Given the description of an element on the screen output the (x, y) to click on. 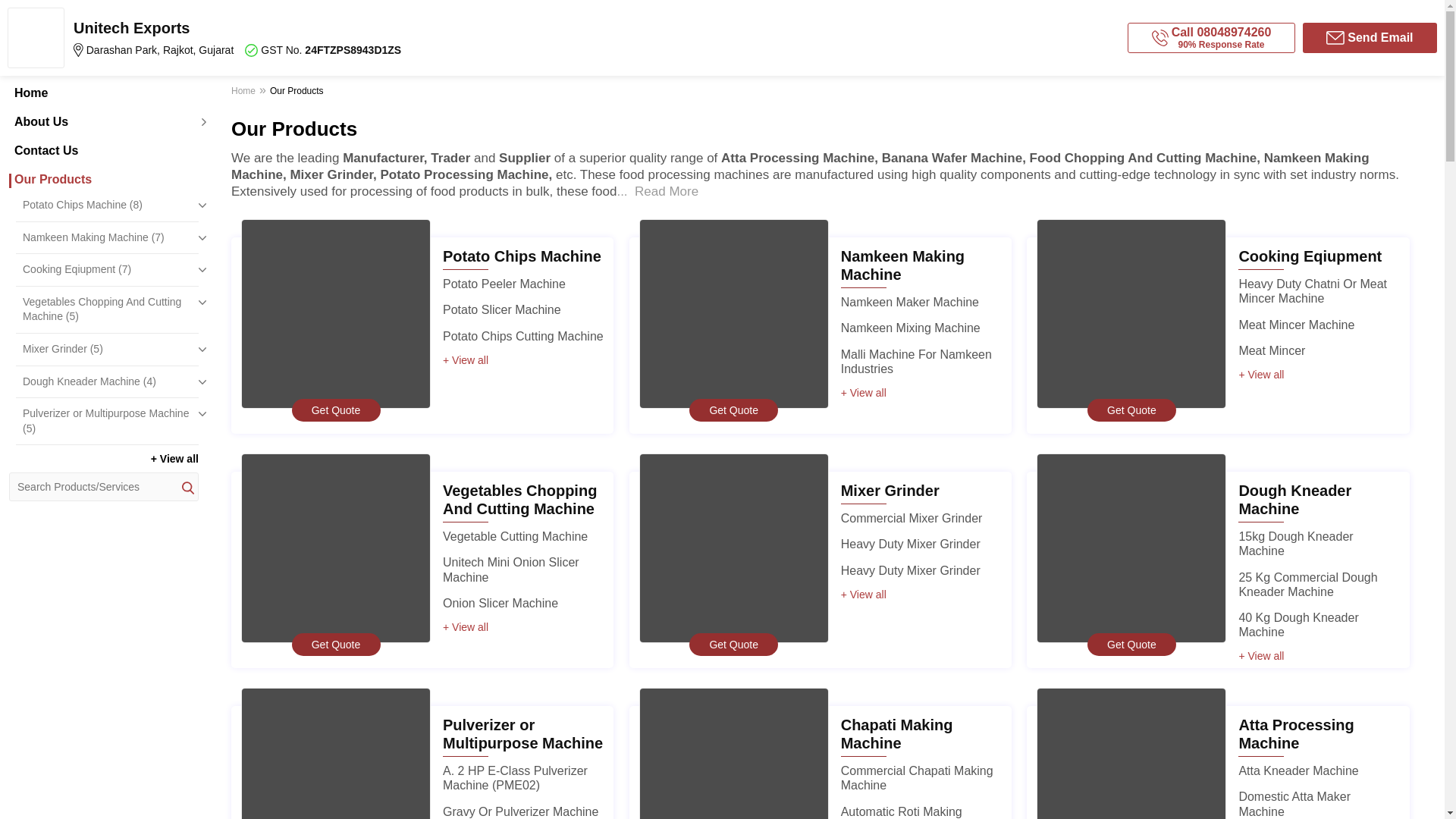
Home (103, 92)
Our Products (103, 179)
About Us (103, 121)
Contact Us (103, 150)
